Given the description of an element on the screen output the (x, y) to click on. 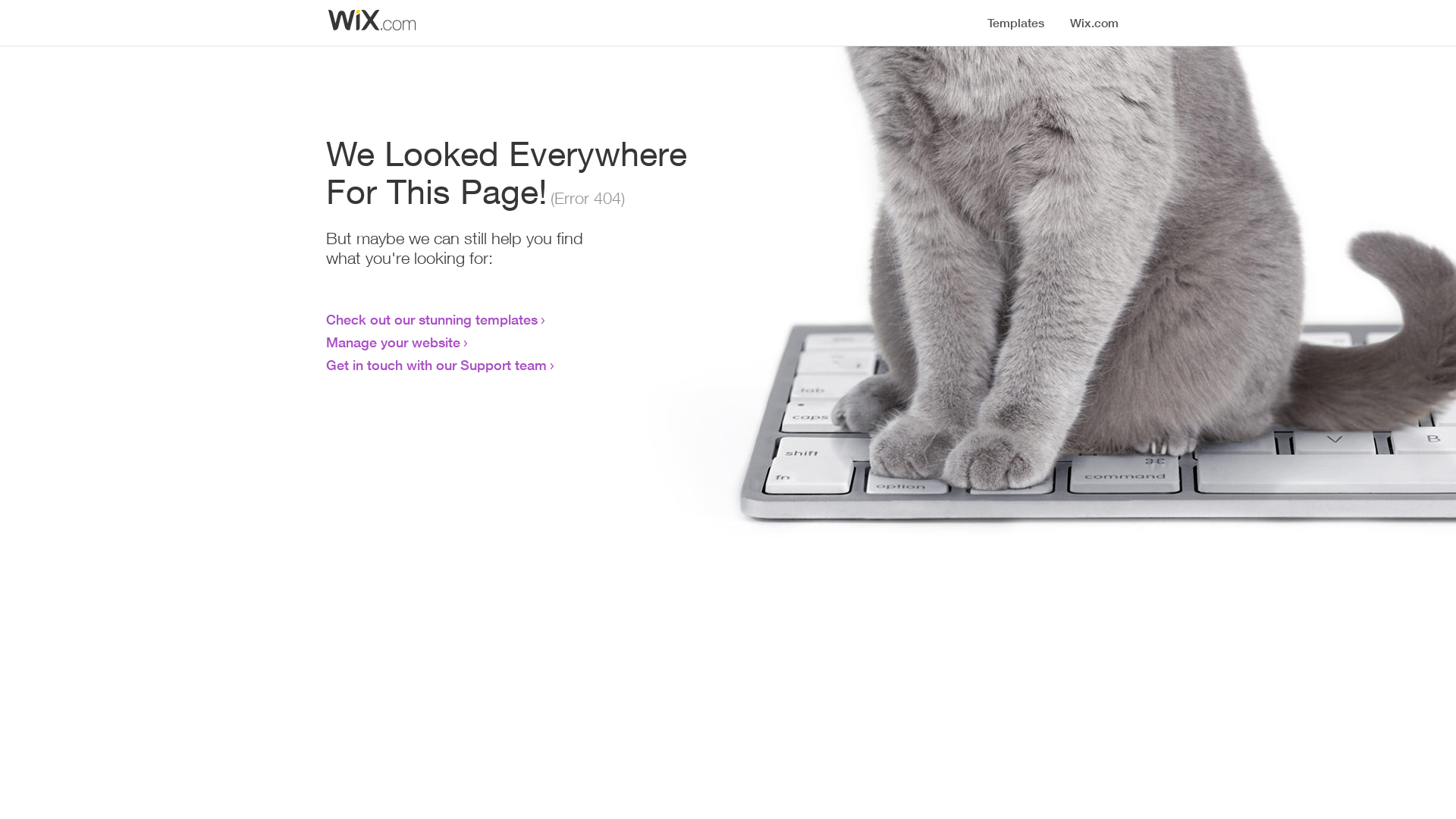
Check out our stunning templates Element type: text (431, 318)
Manage your website Element type: text (393, 341)
Get in touch with our Support team Element type: text (436, 364)
